Given the description of an element on the screen output the (x, y) to click on. 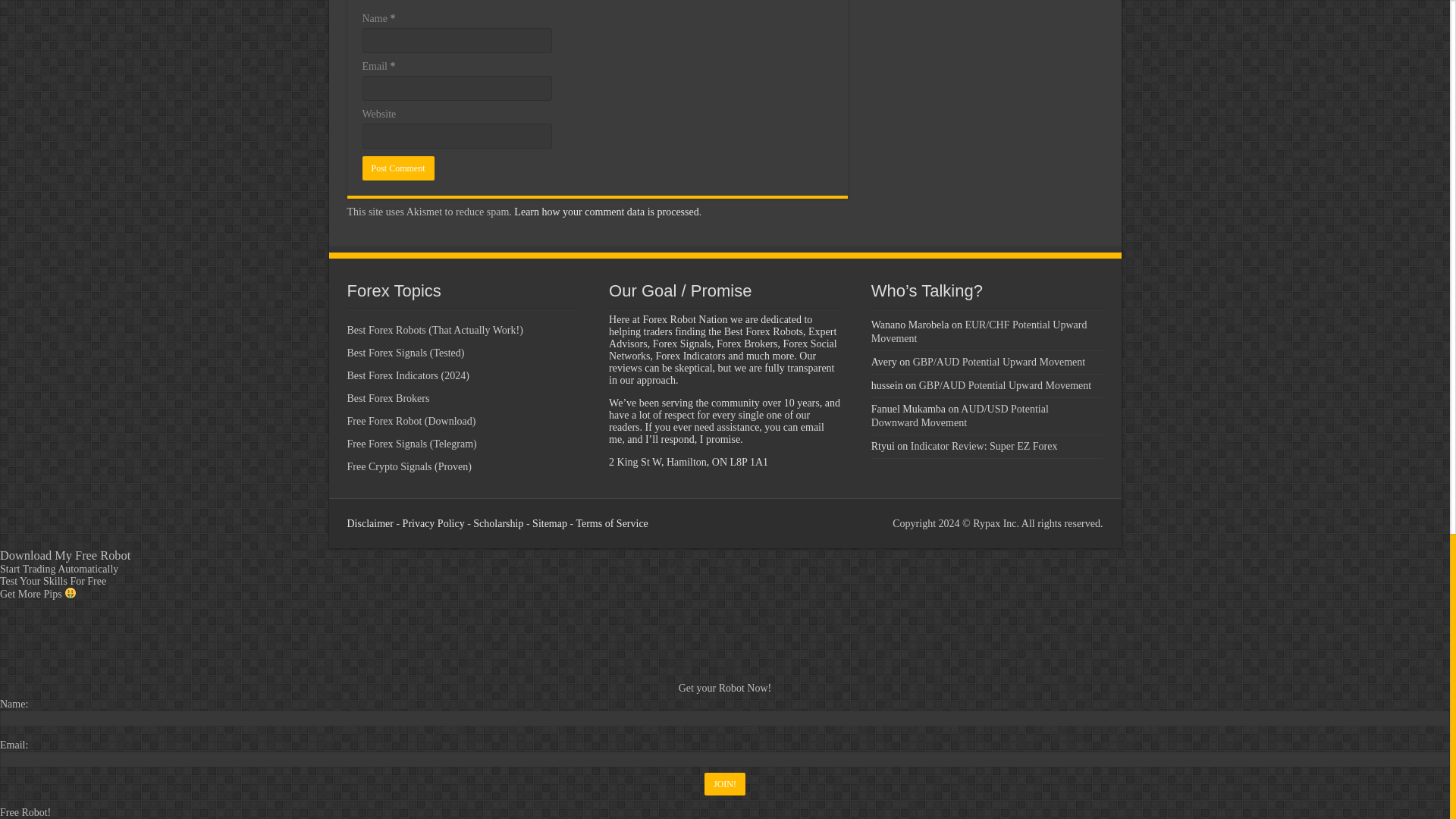
Learn how your comment data is processed (605, 211)
Post Comment (397, 168)
Post Comment (397, 168)
JOIN! (724, 784)
